Given the description of an element on the screen output the (x, y) to click on. 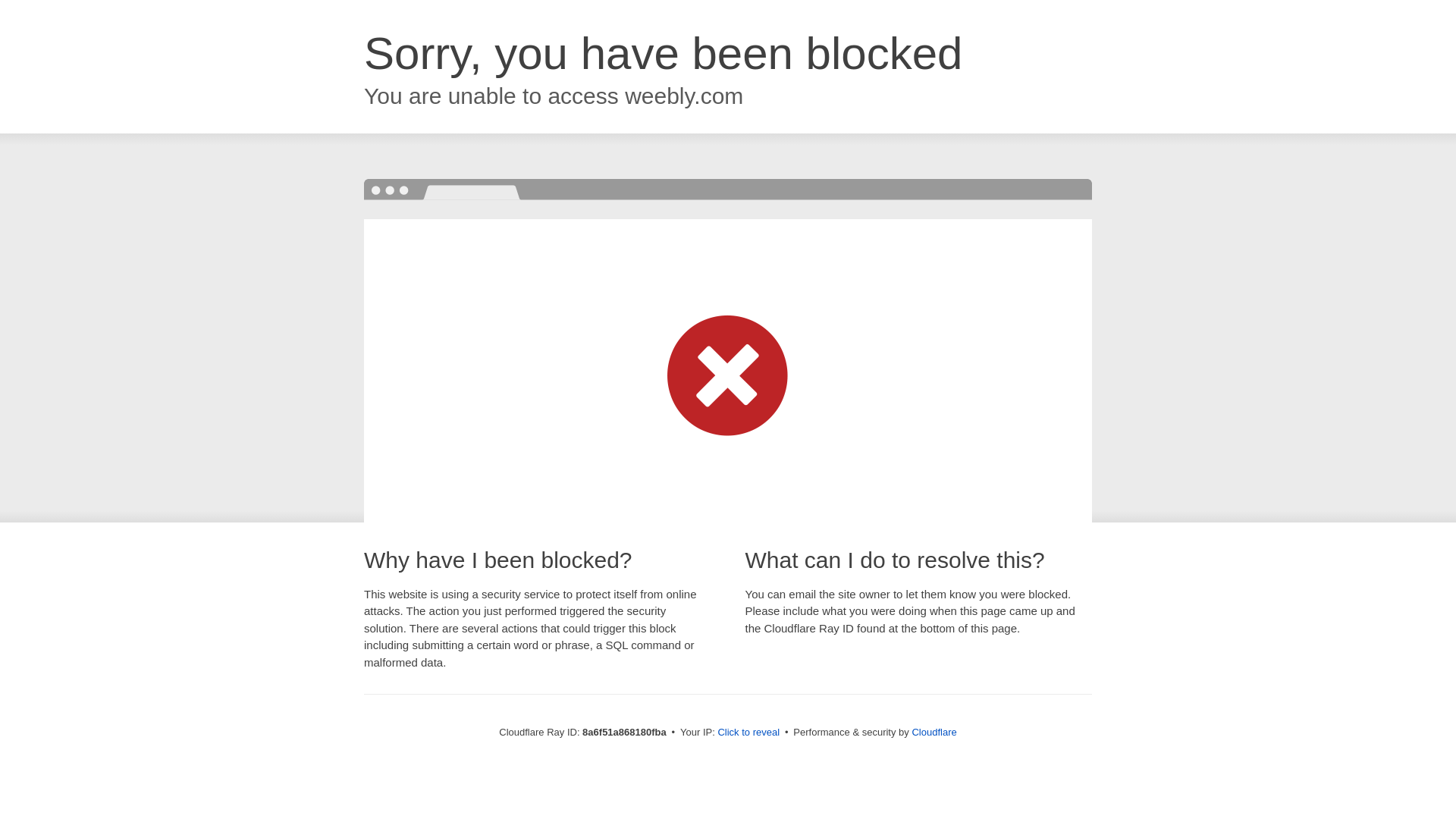
Click to reveal (747, 732)
Cloudflare (933, 731)
